Given the description of an element on the screen output the (x, y) to click on. 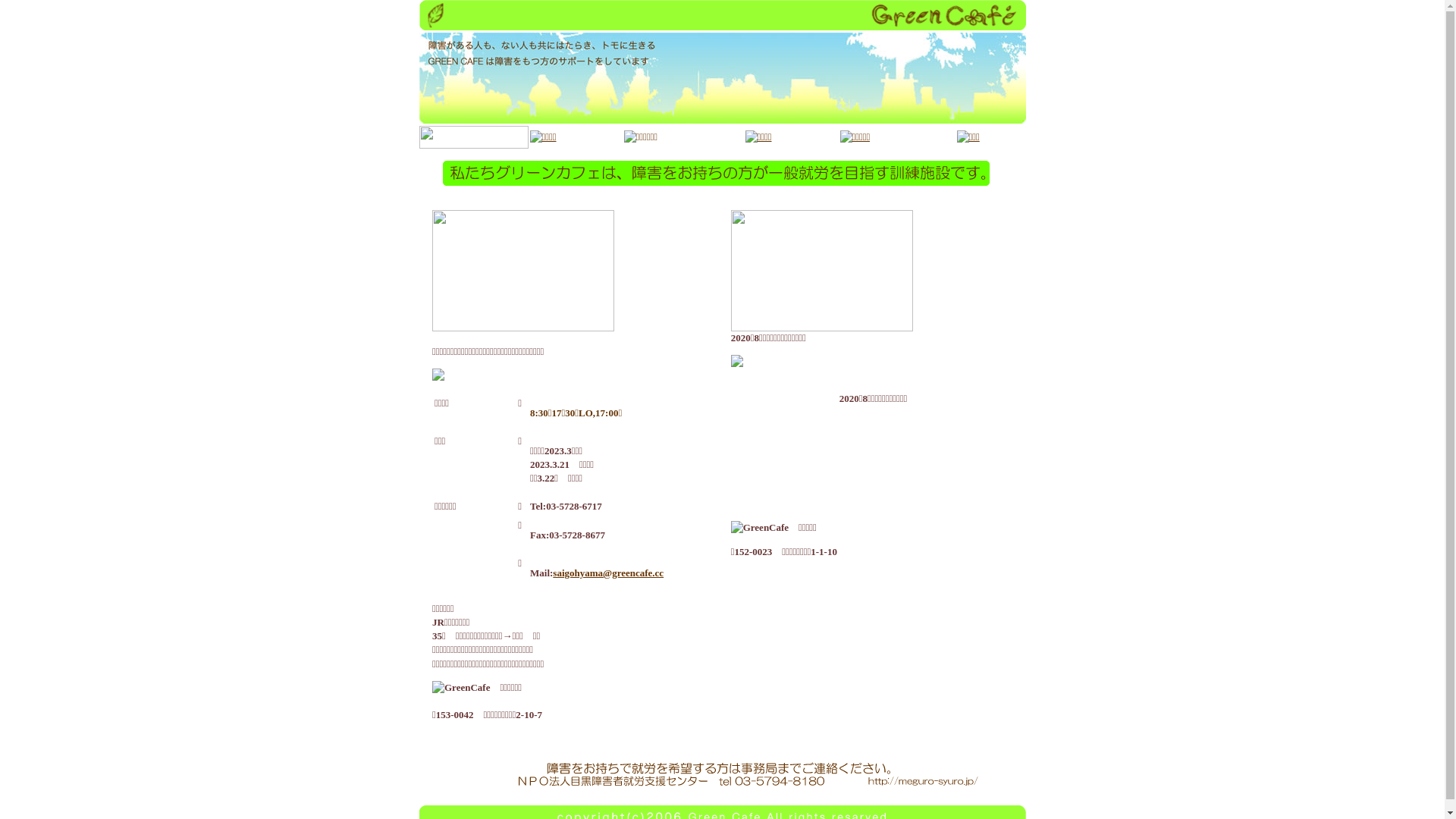
saigohyama@greencafe.cc Element type: text (607, 572)
